Given the description of an element on the screen output the (x, y) to click on. 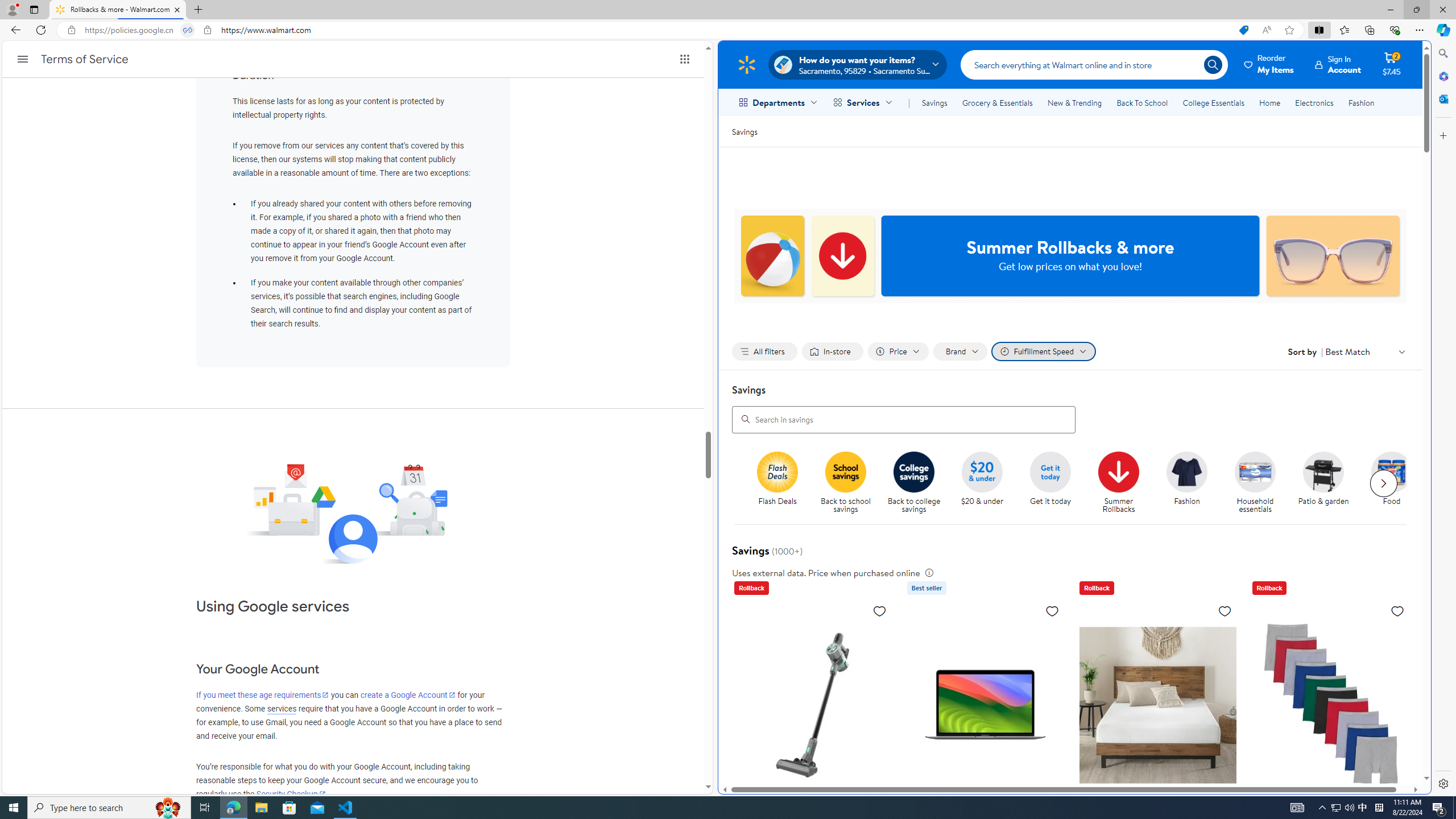
Sign In Account (1338, 64)
Filter by Fulfillment Speed not applied, activate to change (1043, 351)
$20 & under (986, 483)
Savings (744, 131)
New & Trending (1075, 102)
Back To School (1141, 102)
